Given the description of an element on the screen output the (x, y) to click on. 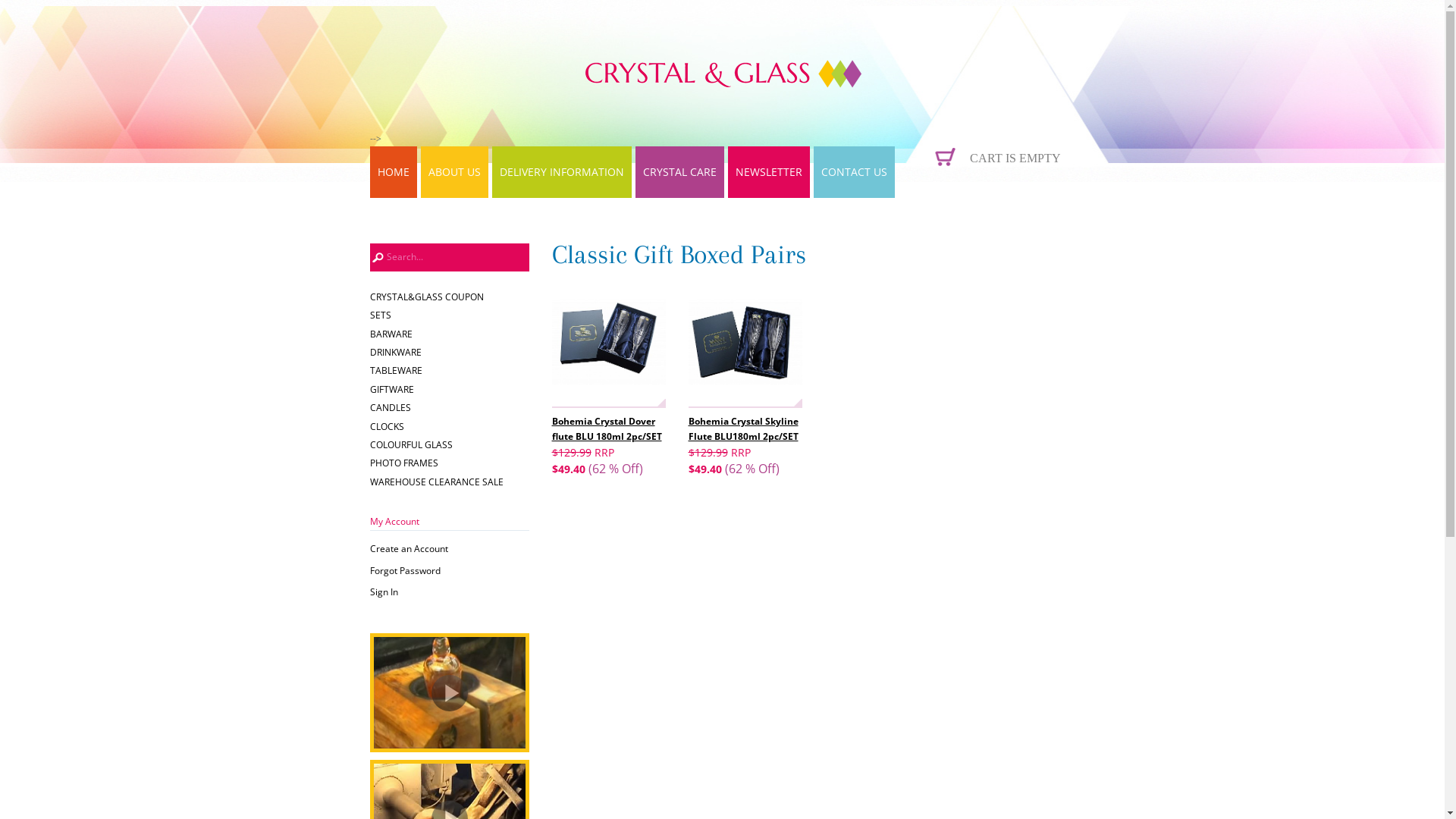
PHOTO FRAMES Element type: text (449, 461)
DRINKWARE Element type: text (449, 351)
BARWARE Element type: text (449, 332)
CANDLES Element type: text (449, 406)
DELIVERY INFORMATION Element type: text (560, 171)
CRYSTAL CARE Element type: text (679, 171)
Sign In Element type: text (449, 592)
CLOCKS Element type: text (449, 425)
CONTACT US Element type: text (853, 171)
WAREHOUSE CLEARANCE SALE Element type: text (449, 480)
SETS Element type: text (449, 313)
HOME Element type: text (393, 171)
CRYSTAL&GLASS COUPON Element type: text (449, 295)
Manufacturing in action #2 Element type: hover (449, 692)
CART IS EMPTY Element type: text (1009, 154)
COLOURFUL GLASS Element type: text (449, 443)
Forgot Password Element type: text (449, 570)
TABLEWARE Element type: text (449, 369)
NEWSLETTER Element type: text (768, 171)
ABOUT US Element type: text (453, 171)
Create an Account Element type: text (449, 548)
GIFTWARE Element type: text (449, 388)
